Given the description of an element on the screen output the (x, y) to click on. 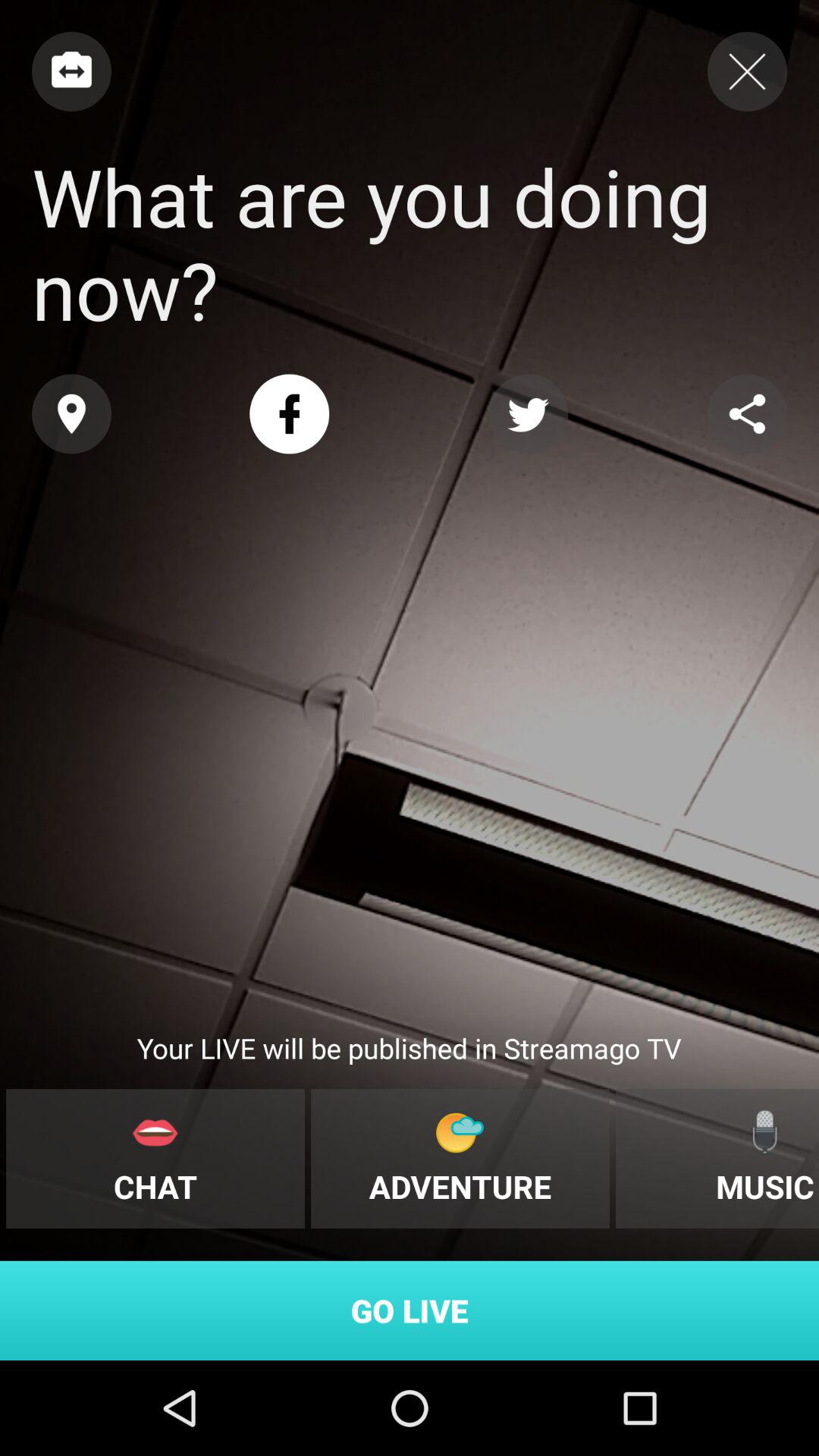
enable or disable location (71, 413)
